Given the description of an element on the screen output the (x, y) to click on. 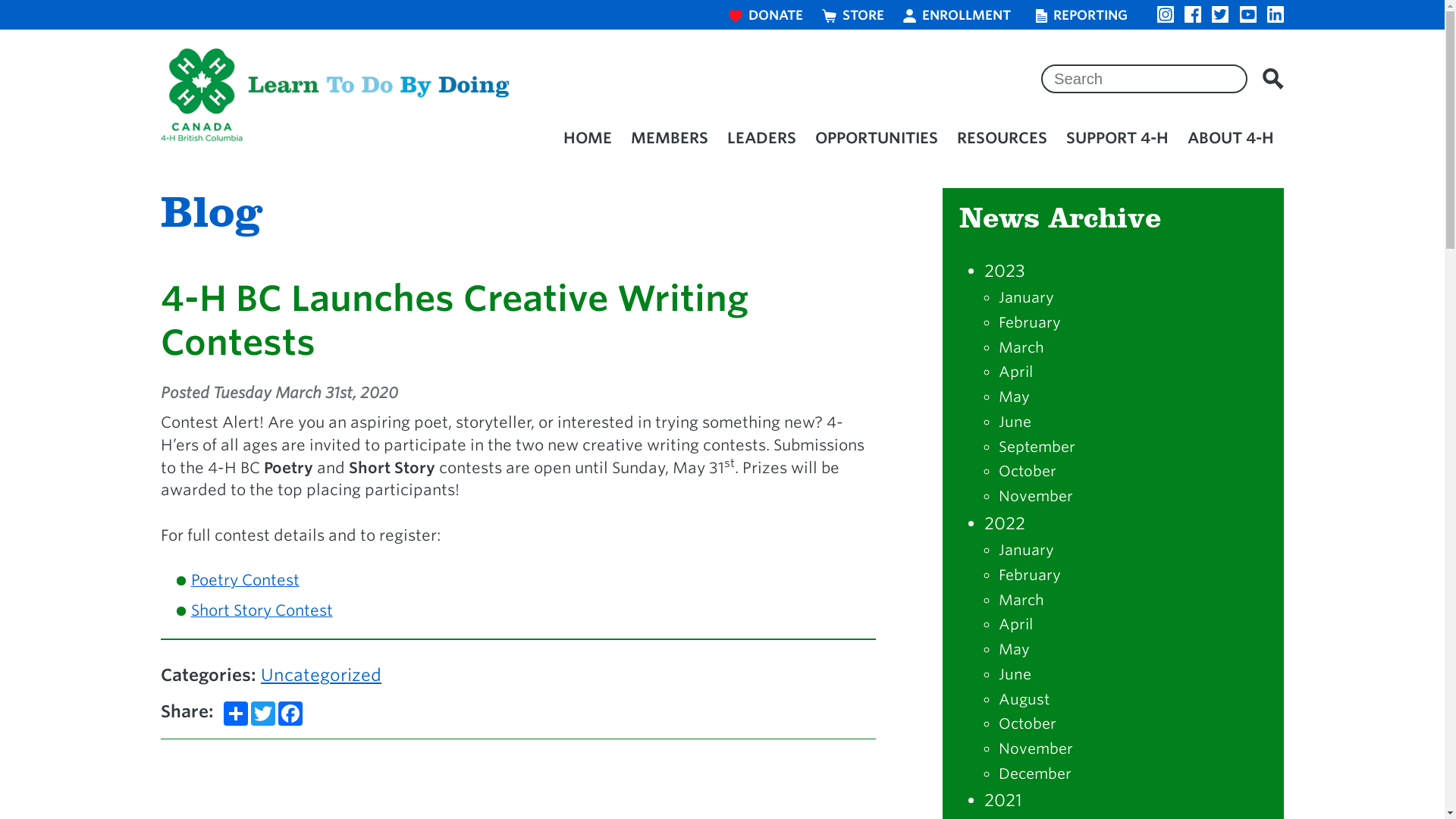
linkedin icon Element type: hover (1275, 14)
June Element type: text (1014, 421)
February Element type: text (1029, 574)
ENROLLMENT Element type: text (960, 14)
September Element type: text (1036, 446)
April Element type: text (1015, 623)
MEMBERS Element type: text (669, 138)
December Element type: text (1034, 773)
August Element type: text (1023, 698)
Twitter Element type: text (262, 713)
instagram icon Element type: hover (1165, 14)
Uncategorized Element type: text (320, 674)
February Element type: text (1029, 321)
youtube icon Element type: hover (1247, 14)
HOME Element type: text (587, 138)
October Element type: text (1027, 470)
ABOUT 4-H Element type: text (1230, 138)
OPPORTUNITIES Element type: text (876, 138)
November Element type: text (1035, 748)
Facebook Element type: text (290, 713)
March Element type: text (1021, 599)
2021 Element type: text (1003, 799)
November Element type: text (1035, 495)
2022 Element type: text (1004, 523)
January Element type: text (1026, 296)
2023 Element type: text (1004, 270)
Facebook icon Element type: hover (1192, 14)
May Element type: text (1013, 648)
RESOURCES Element type: text (1002, 138)
Short Story Contest Element type: text (261, 610)
May Element type: text (1013, 396)
Poetry Contest Element type: text (245, 580)
REPORTING Element type: text (1084, 14)
June Element type: text (1014, 673)
October Element type: text (1027, 723)
DONATE Element type: text (765, 14)
LEADERS Element type: text (762, 138)
March Element type: text (1021, 346)
Share Element type: text (235, 713)
April Element type: text (1015, 371)
twitter icon Element type: hover (1219, 14)
SUPPORT 4-H Element type: text (1117, 138)
January Element type: text (1026, 549)
STORE Element type: text (853, 14)
